Given the description of an element on the screen output the (x, y) to click on. 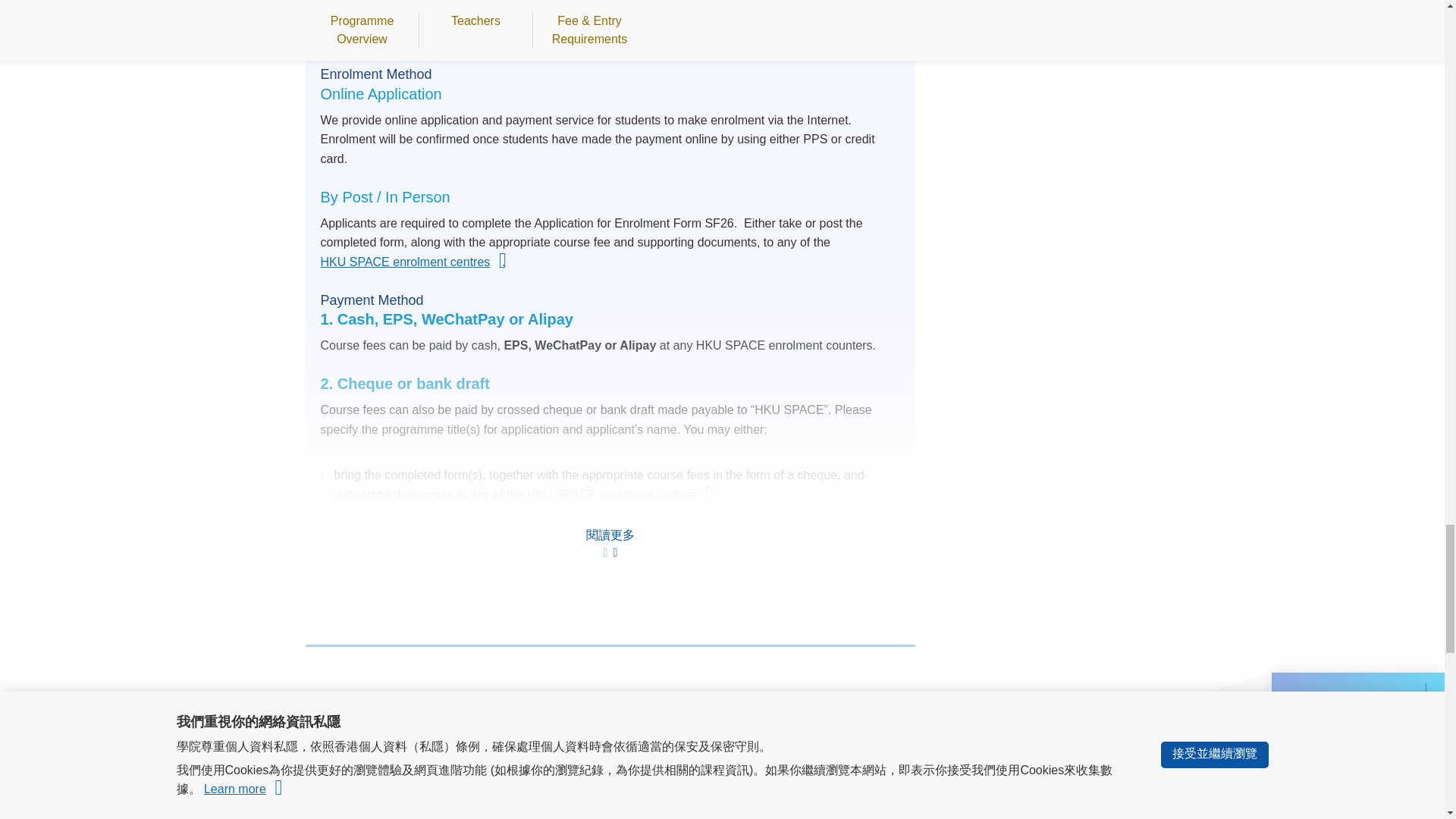
This link will pop up in a new window (411, 261)
This link will pop up in a new window (618, 495)
